Given the description of an element on the screen output the (x, y) to click on. 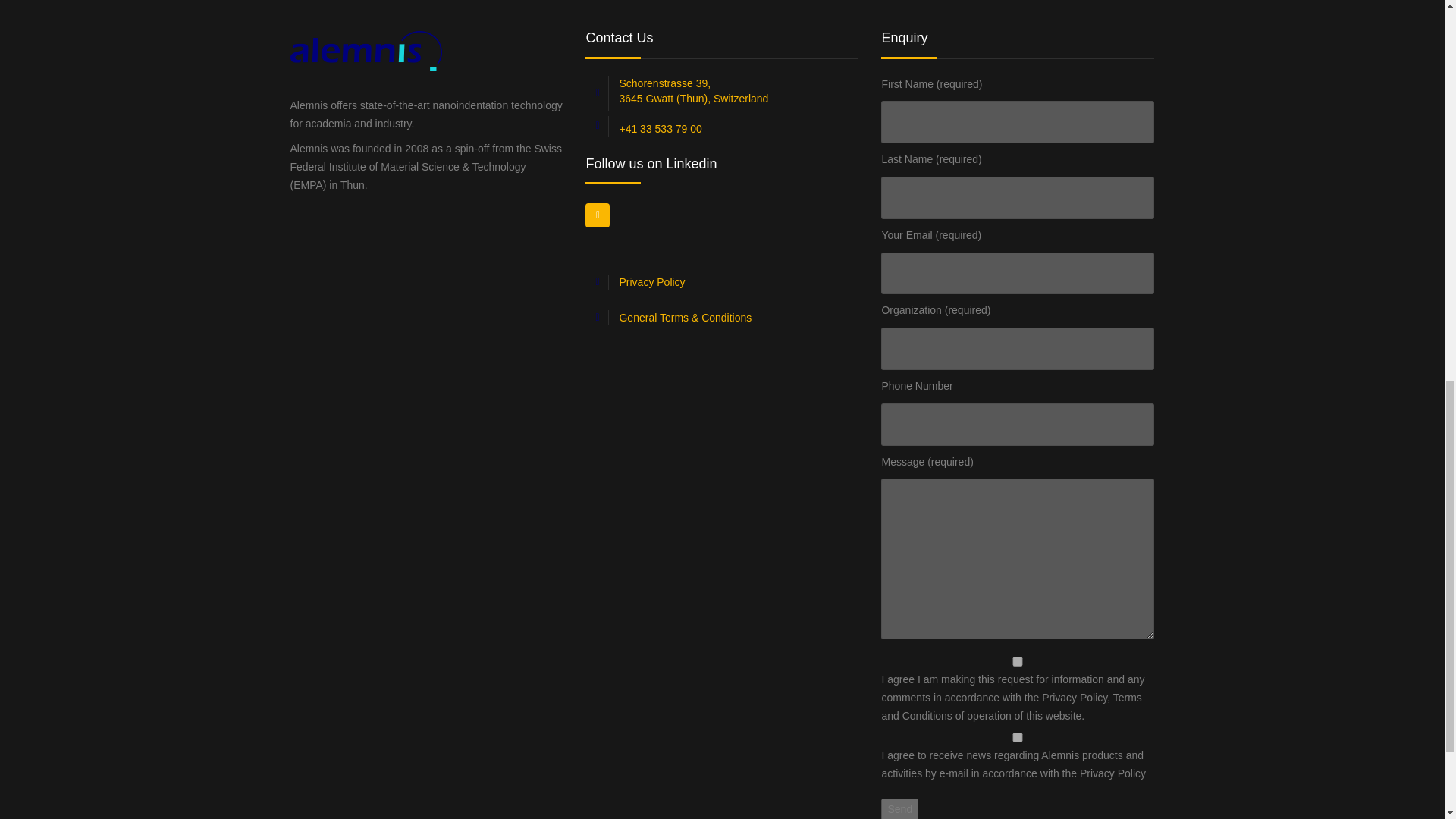
1 (1017, 661)
Send (899, 808)
1 (1017, 737)
